Given the description of an element on the screen output the (x, y) to click on. 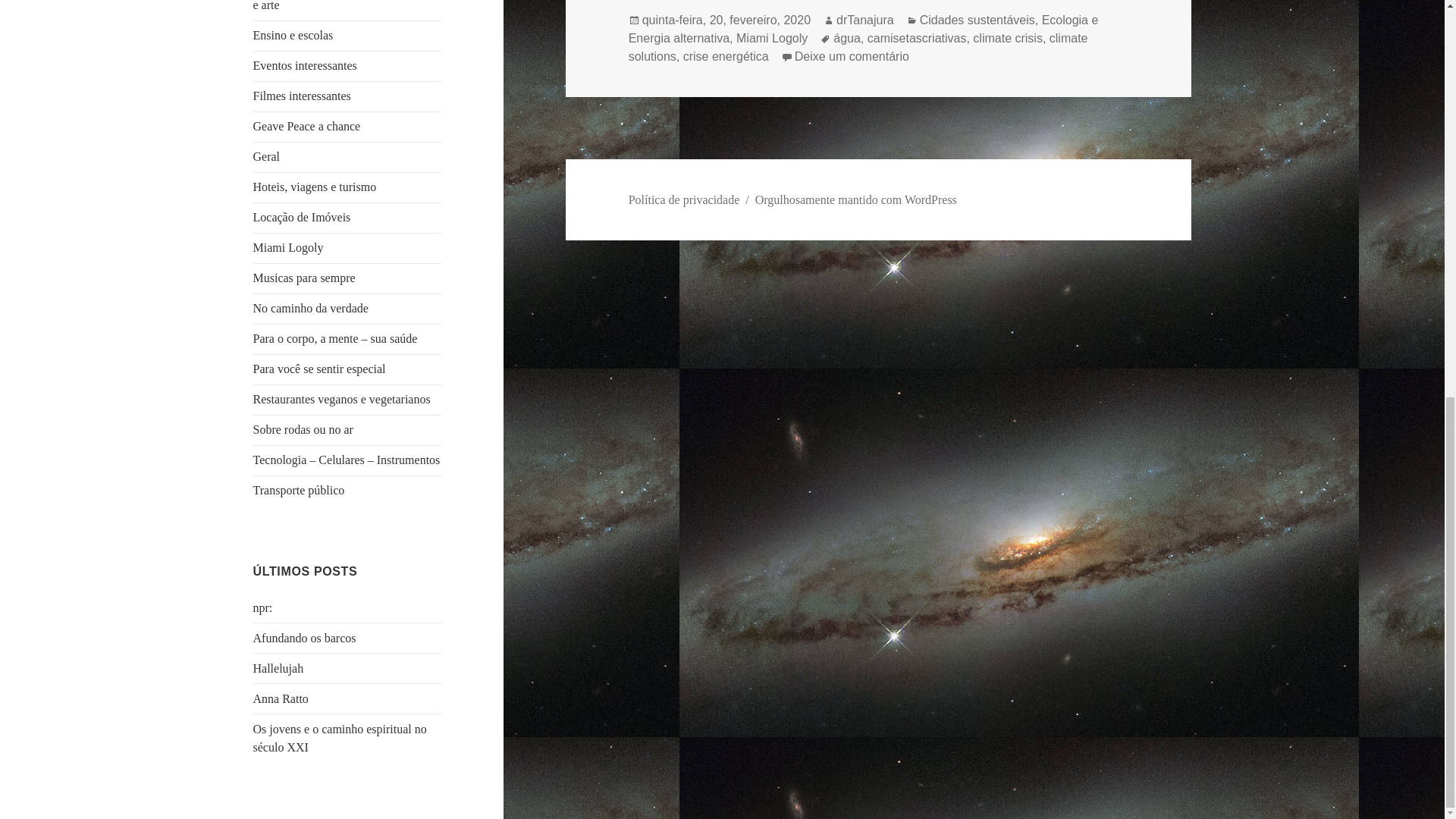
Restaurantes veganos e vegetarianos (341, 399)
camisetascriativas (916, 38)
npr: (263, 607)
Hallelujah (278, 667)
quinta-feira, 20, fevereiro, 2020 (726, 20)
Eventos interessantes (304, 65)
Geral (267, 155)
Miami Logoly (772, 38)
Filmes interessantes (301, 95)
drTanajura (864, 20)
